Given the description of an element on the screen output the (x, y) to click on. 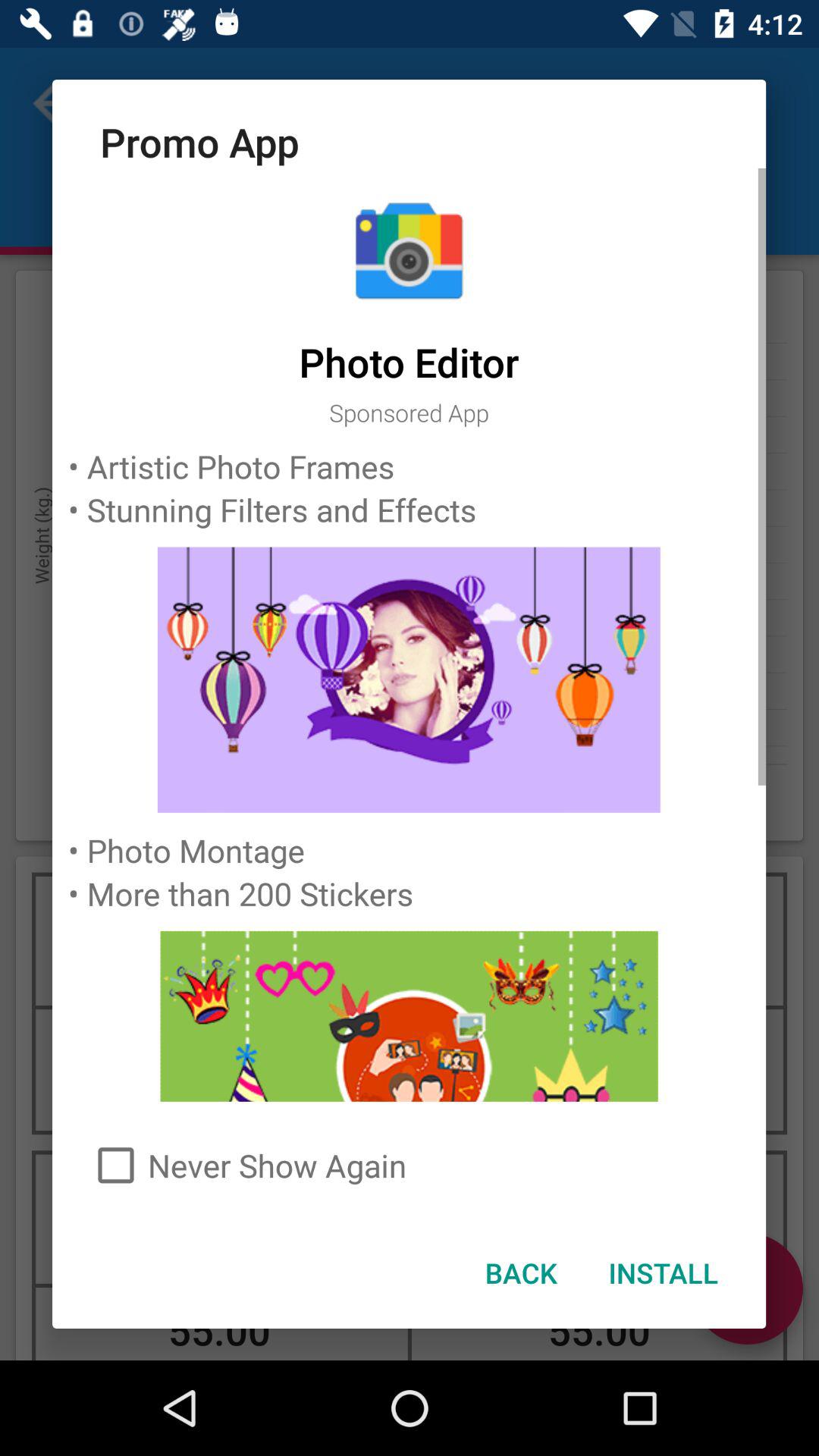
open the back item (520, 1272)
